Given the description of an element on the screen output the (x, y) to click on. 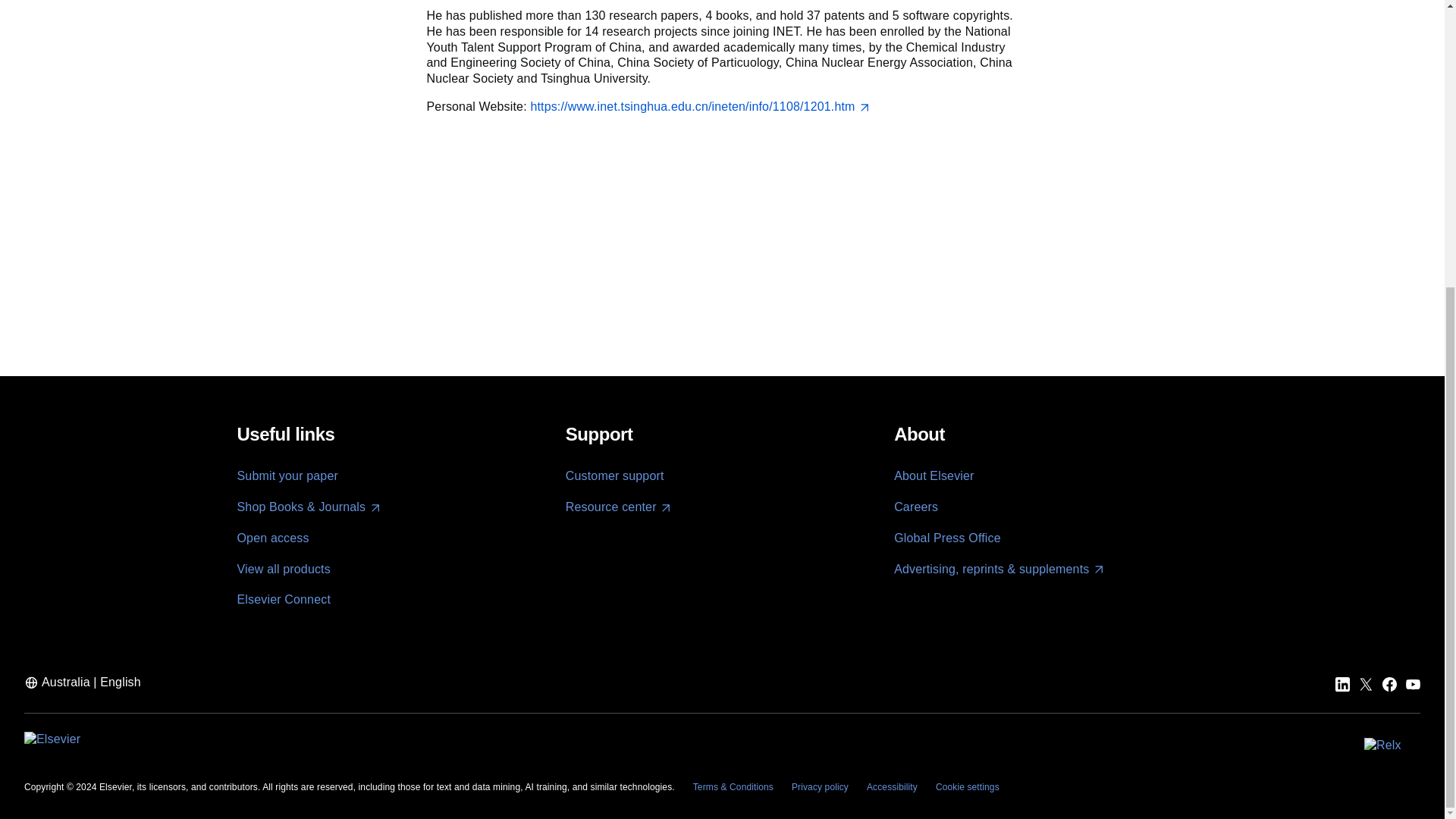
Customer support (614, 475)
Elsevier Connect (282, 599)
Open access (271, 537)
Resource center (618, 507)
Careers (915, 506)
Global Press Office (947, 537)
View all products (282, 568)
About Elsevier (933, 475)
Submit your paper (286, 475)
